Given the description of an element on the screen output the (x, y) to click on. 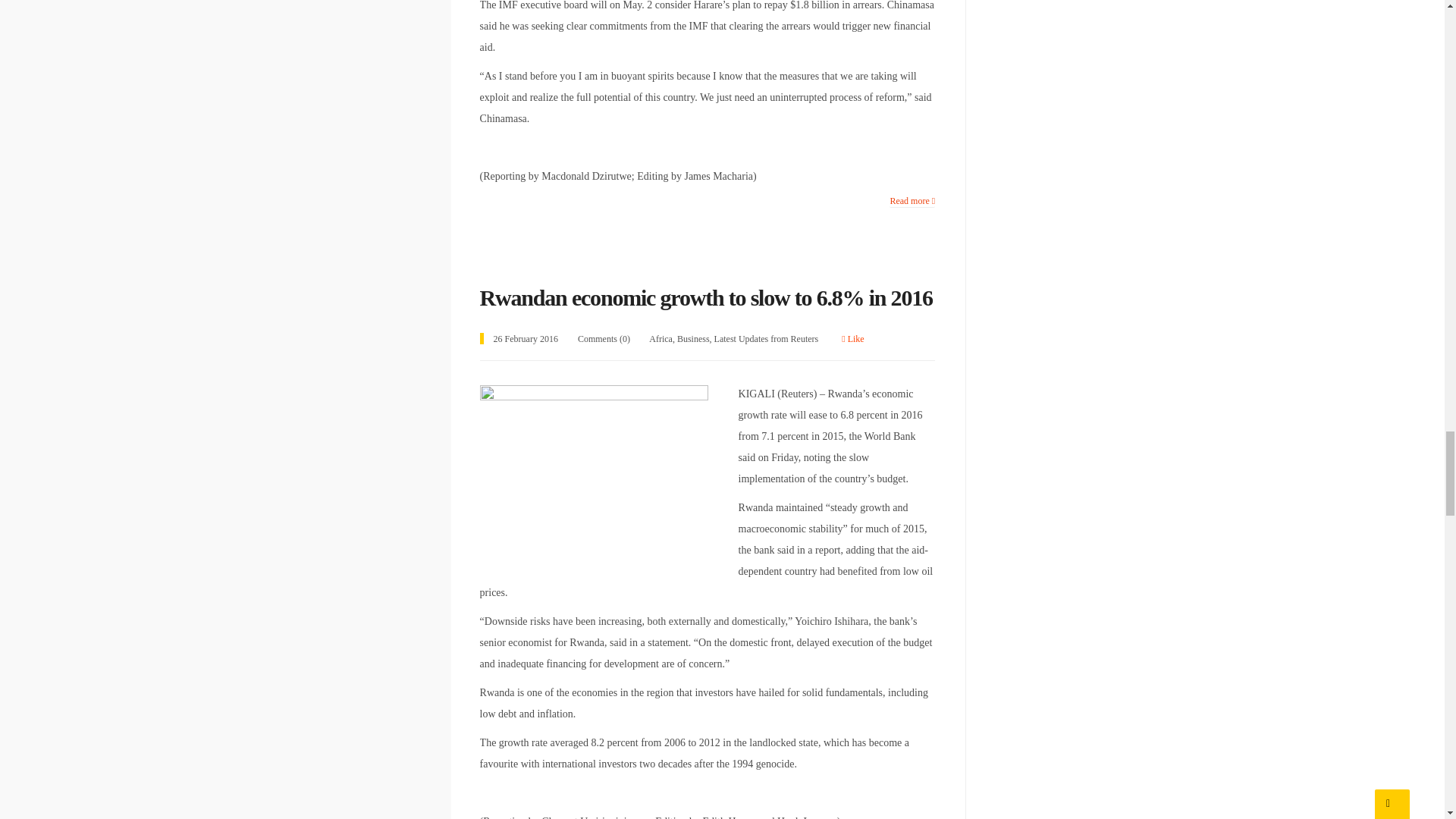
Like (852, 338)
